Given the description of an element on the screen output the (x, y) to click on. 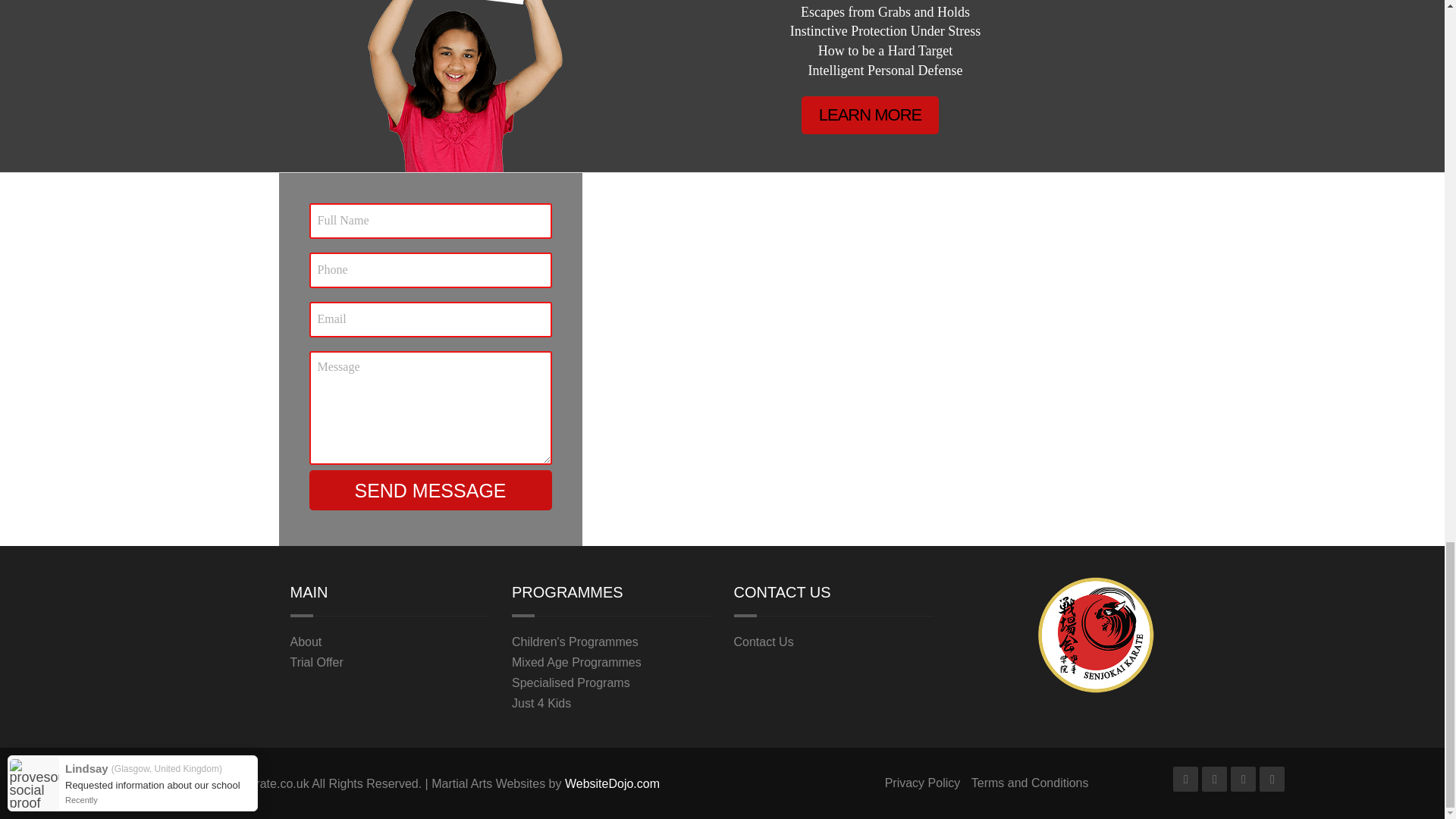
Send Message (429, 490)
